Given the description of an element on the screen output the (x, y) to click on. 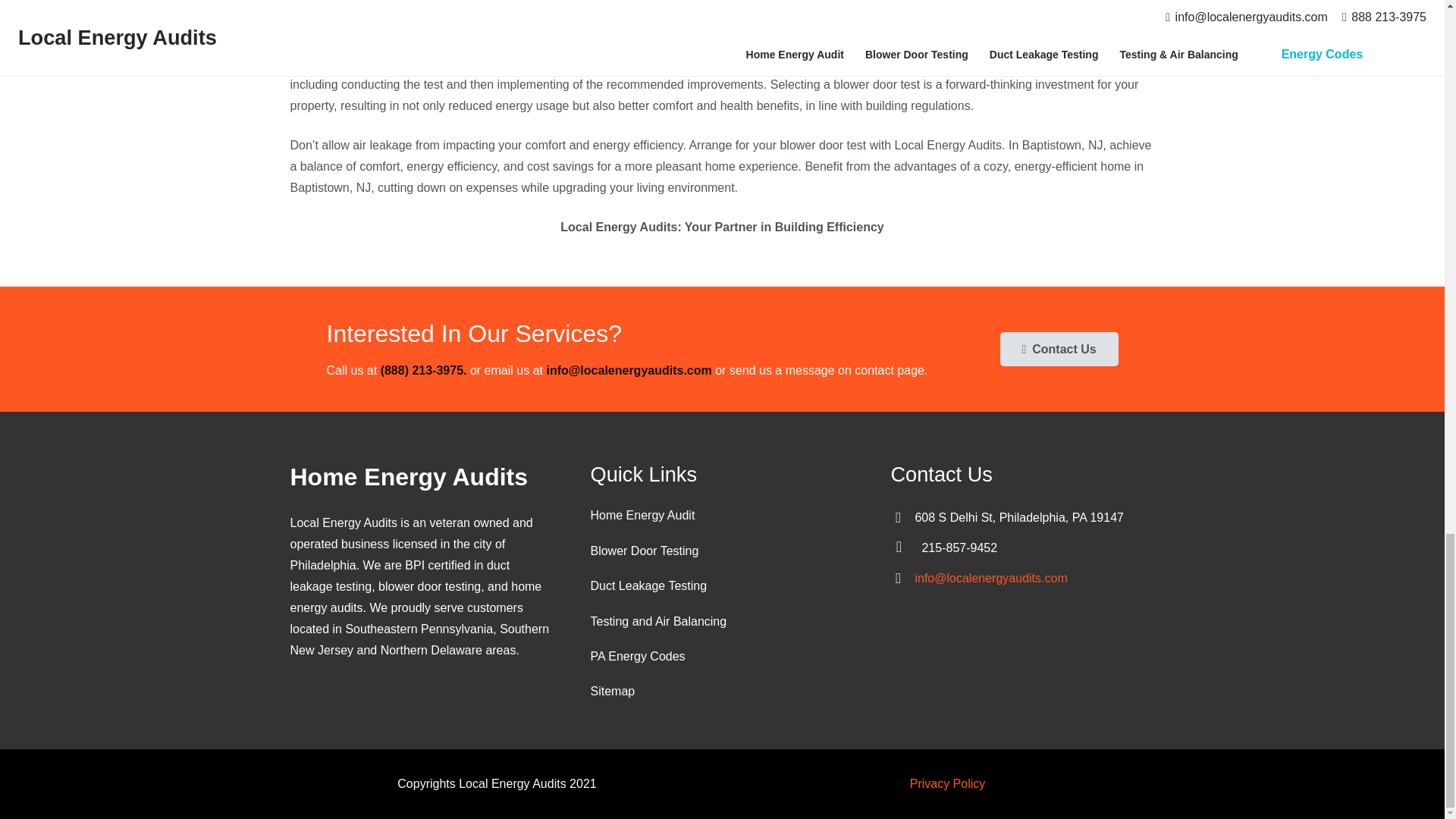
Contact Us (1059, 349)
